Given the description of an element on the screen output the (x, y) to click on. 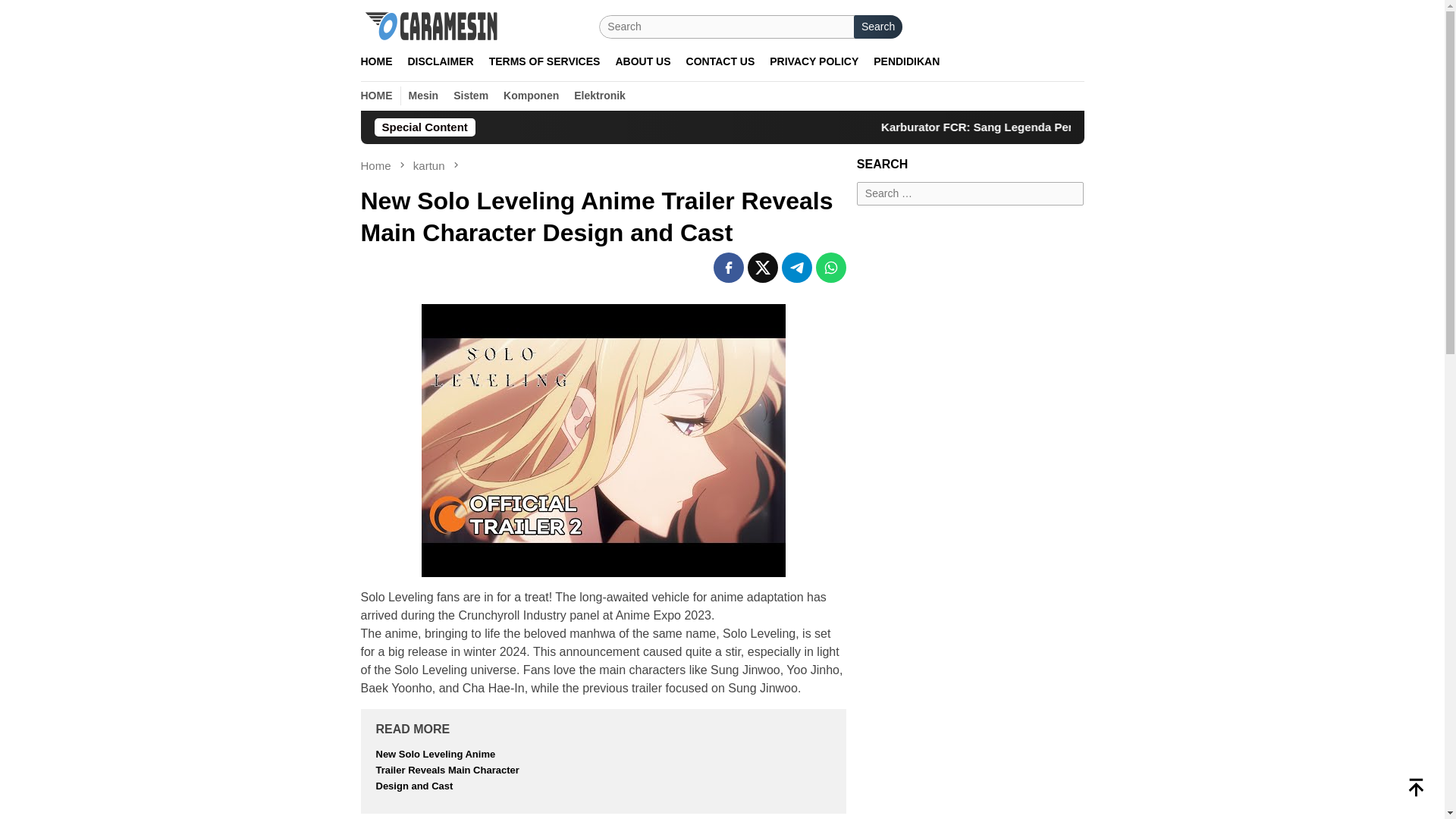
WhatsApp this (830, 267)
Elektronik (599, 95)
Search (877, 26)
kartun (430, 164)
Tweet this (762, 267)
HOME (377, 95)
Karburator FCR: Sang Legenda Performa yang Melegenda (1218, 127)
Komponen (531, 95)
Cara Mesin (433, 25)
Telegram Share (796, 267)
DISCLAIMER (440, 61)
PENDIDIKAN (906, 61)
